Given the description of an element on the screen output the (x, y) to click on. 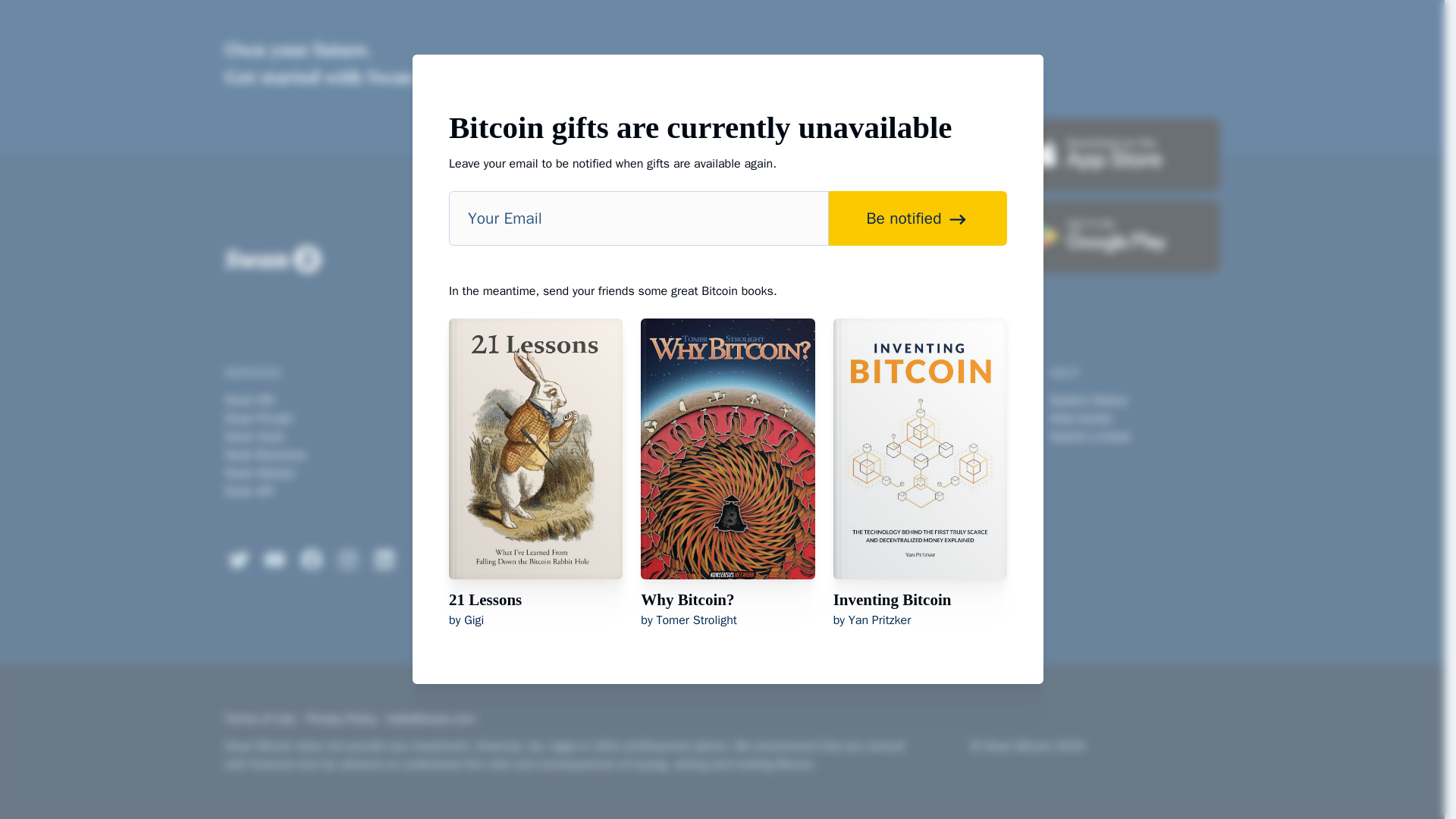
Swan logo (272, 258)
